Given the description of an element on the screen output the (x, y) to click on. 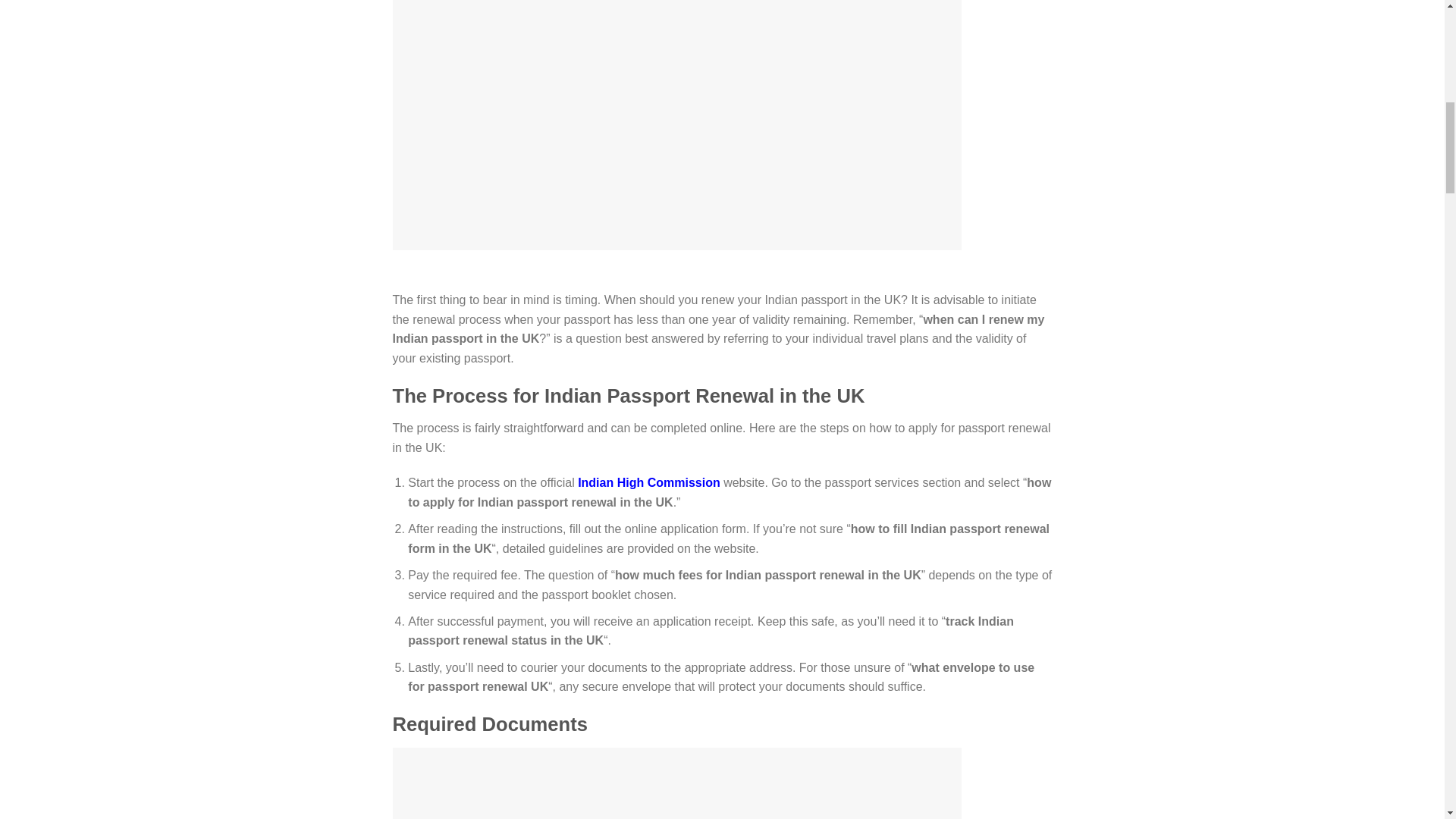
Indian High Commission (649, 481)
